Given the description of an element on the screen output the (x, y) to click on. 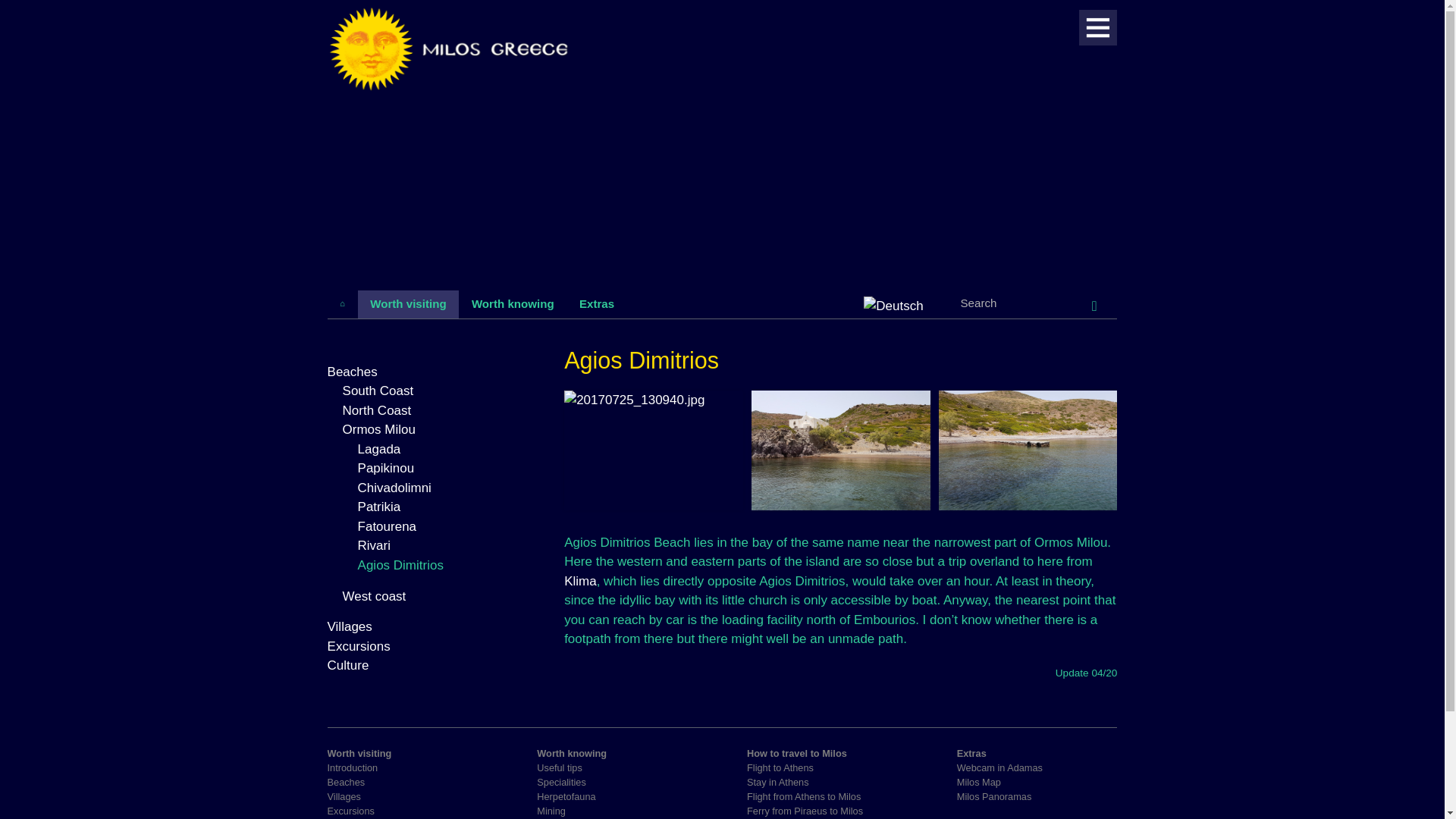
Papikinou (386, 468)
Patrikia (379, 506)
Excursions (358, 646)
Lagada (379, 449)
Skip navigation (638, 295)
Chivadolimni (394, 487)
Worth visiting (409, 304)
Patrikia (379, 506)
Worth knowing (512, 304)
Beaches (352, 371)
